Given the description of an element on the screen output the (x, y) to click on. 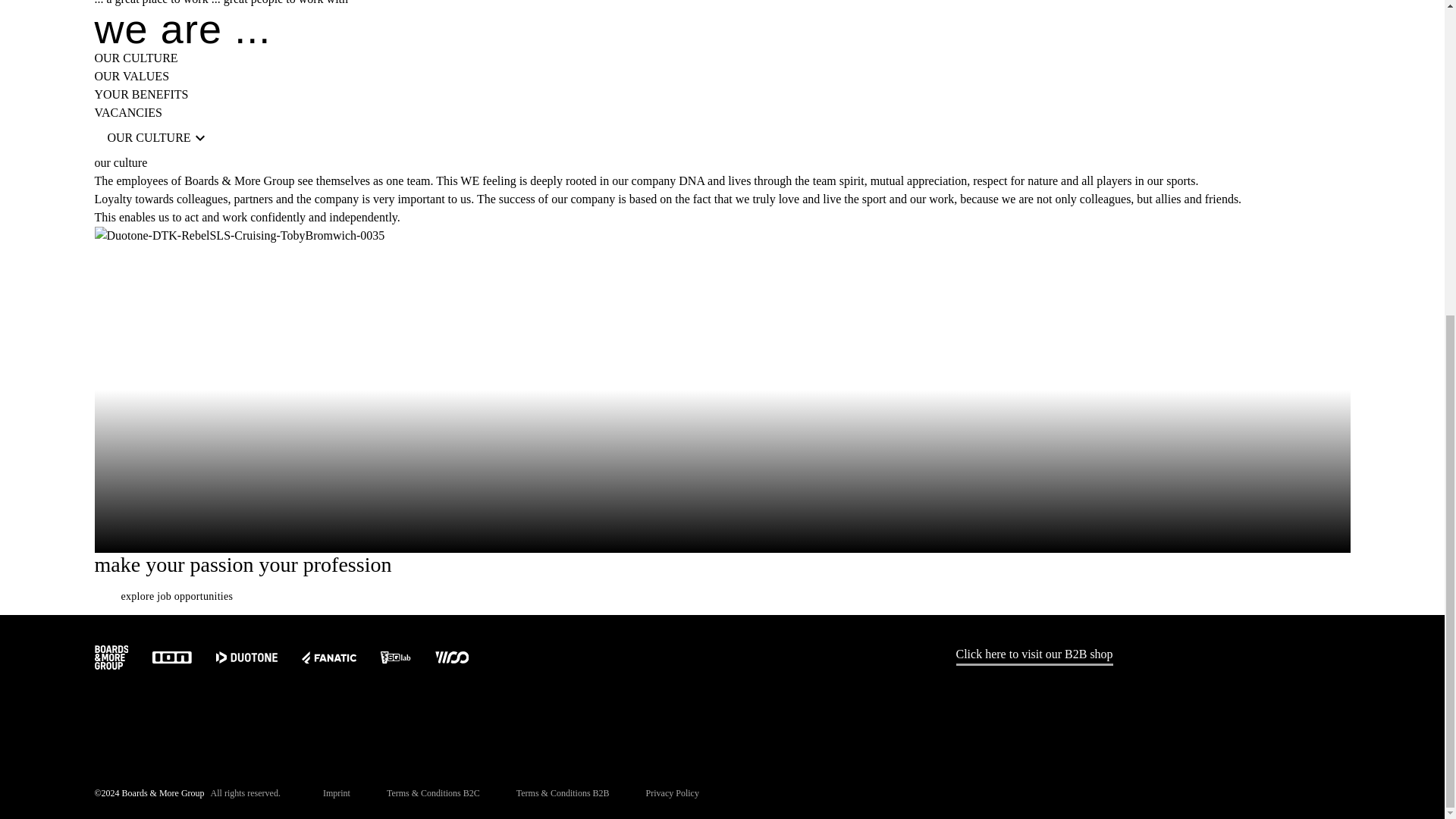
Imprint (336, 795)
Privacy Policy (672, 795)
OUR VALUES (131, 75)
OUR CULTURE (157, 137)
VACANCIES (127, 112)
OUR CULTURE (135, 57)
explore job opportunities (176, 596)
YOUR BENEFITS (140, 93)
Click here to visit our B2B shop (1033, 655)
